Given the description of an element on the screen output the (x, y) to click on. 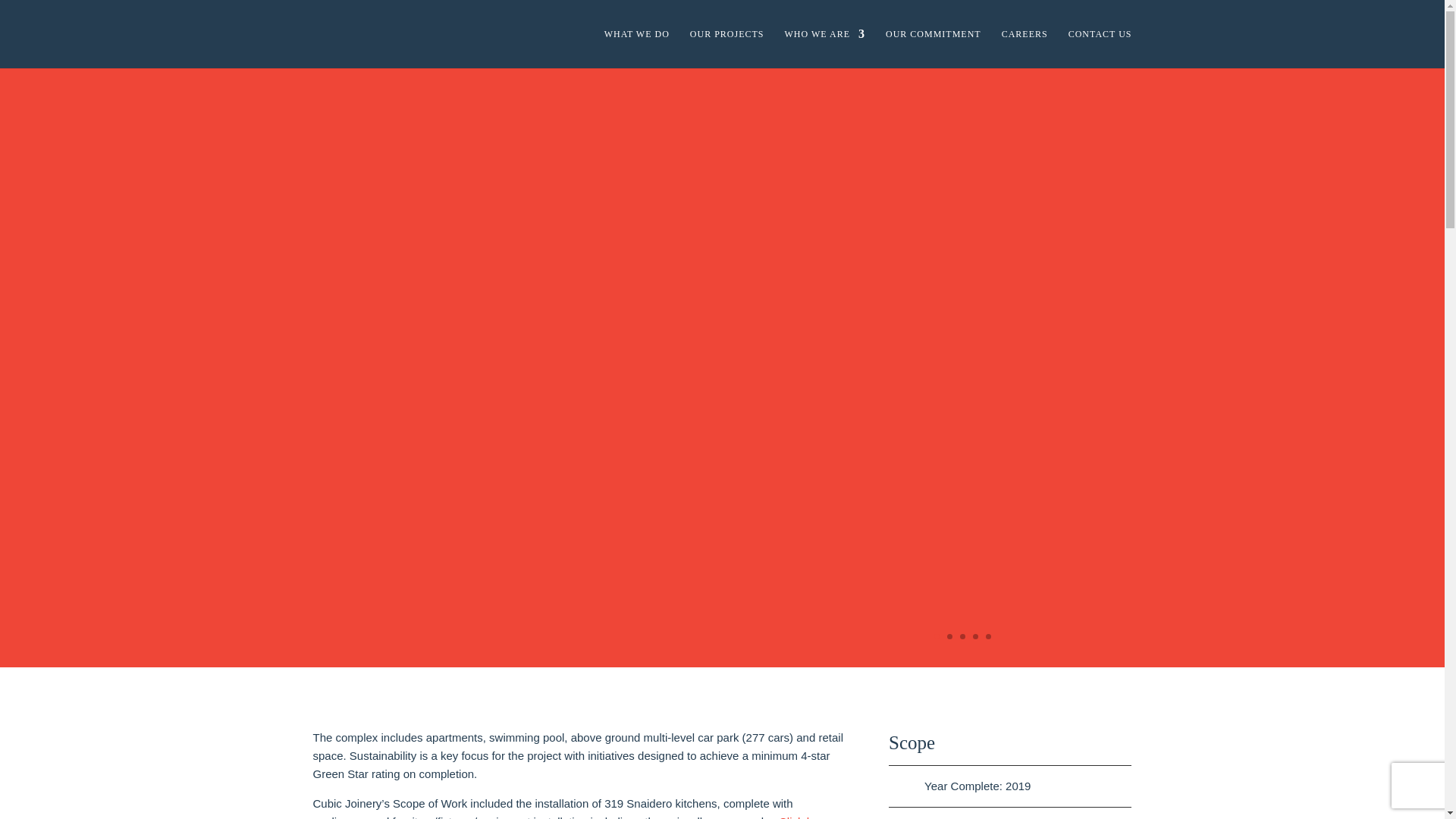
4 (975, 636)
CAREERS (1024, 47)
5 (988, 636)
Click here (803, 816)
WHO WE ARE (824, 47)
OUR PROJECTS (727, 47)
OUR COMMITMENT (933, 47)
3 (962, 636)
